Given the description of an element on the screen output the (x, y) to click on. 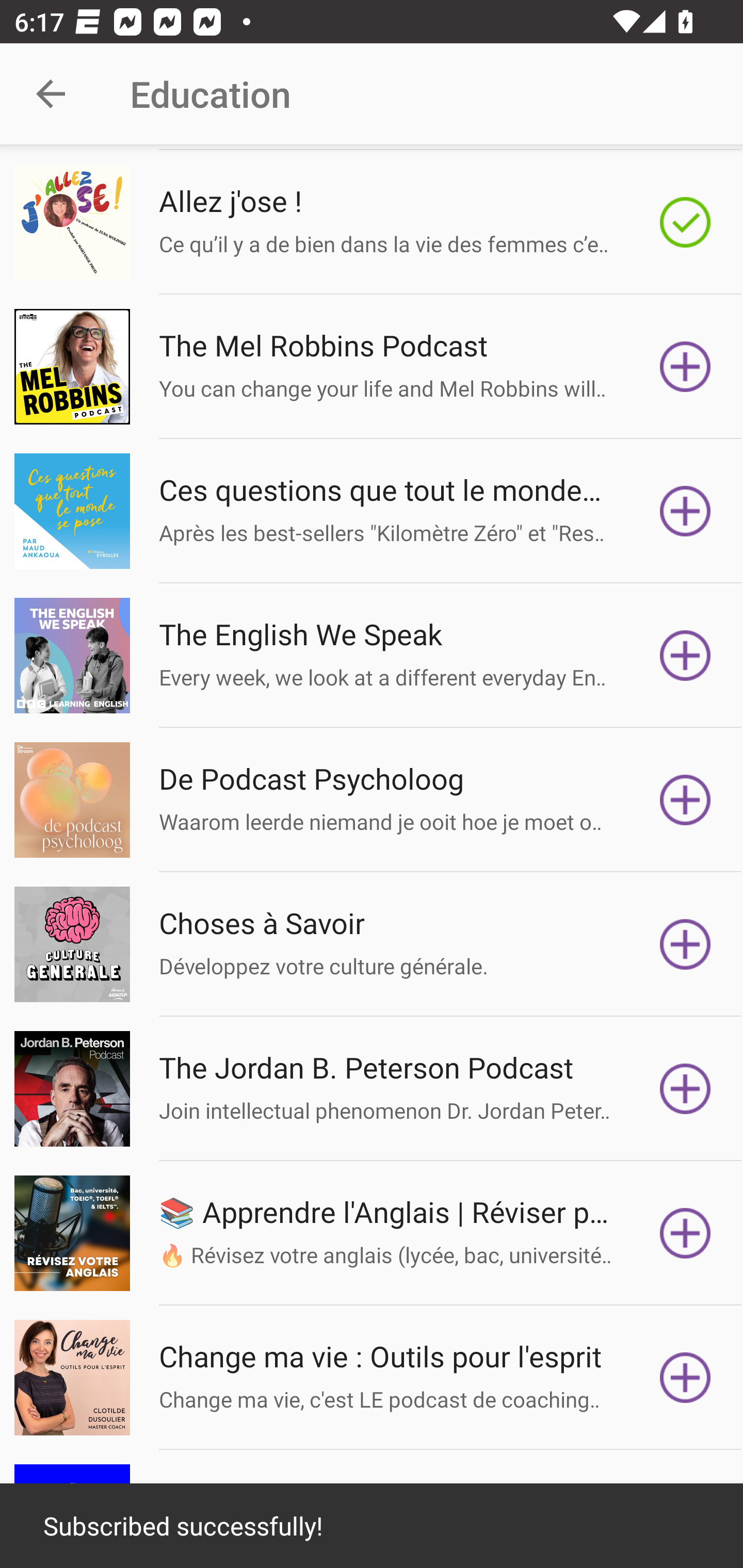
Navigate up (50, 93)
Subscribed (685, 222)
Subscribe (685, 366)
Subscribe (685, 511)
Subscribe (685, 655)
Subscribe (685, 799)
Subscribe (685, 943)
Subscribe (685, 1088)
Subscribe (685, 1233)
Subscribe (685, 1377)
Subscribed successfully! (371, 1525)
